Given the description of an element on the screen output the (x, y) to click on. 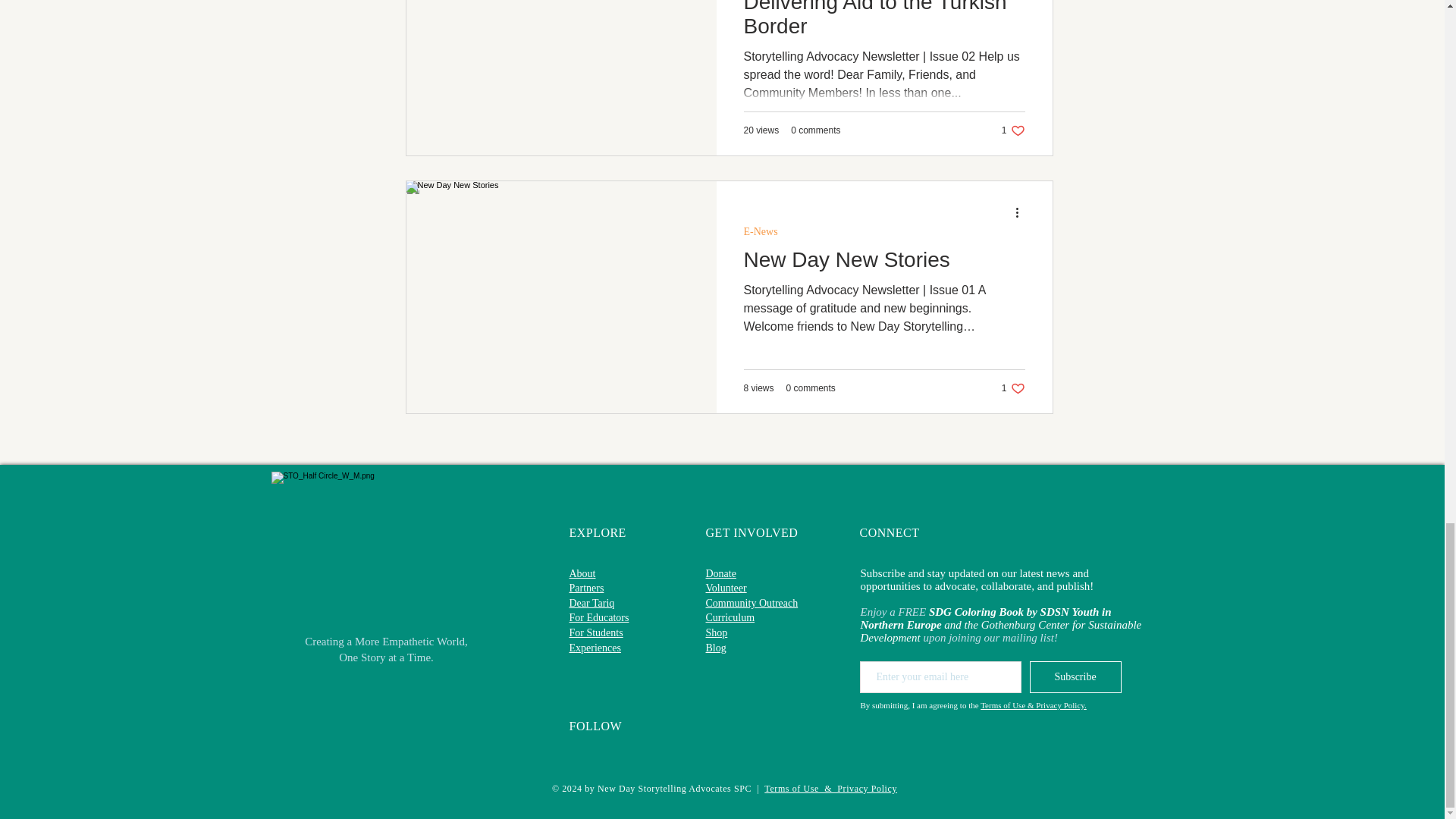
Delivering Aid to the Turkish Border (883, 23)
0 comments (815, 130)
E-News (1013, 130)
New Day New Stories (759, 231)
